Given the description of an element on the screen output the (x, y) to click on. 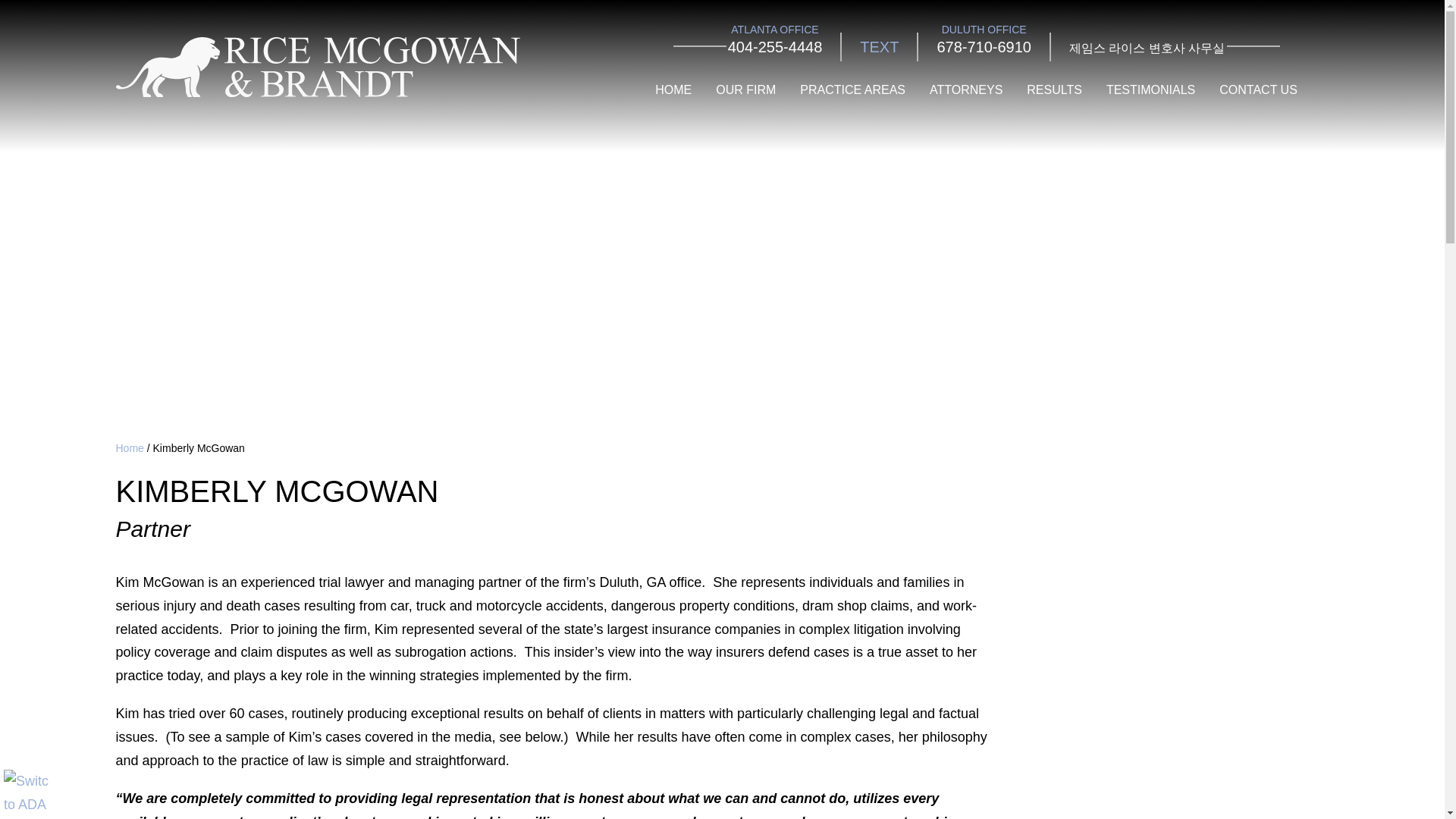
678-710-6910 (983, 46)
Switch to ADA Accessible Theme (26, 791)
TEXT (879, 46)
404-255-4448 (775, 46)
HOME (673, 90)
OUR FIRM (746, 90)
PRACTICE AREAS (852, 90)
